Given the description of an element on the screen output the (x, y) to click on. 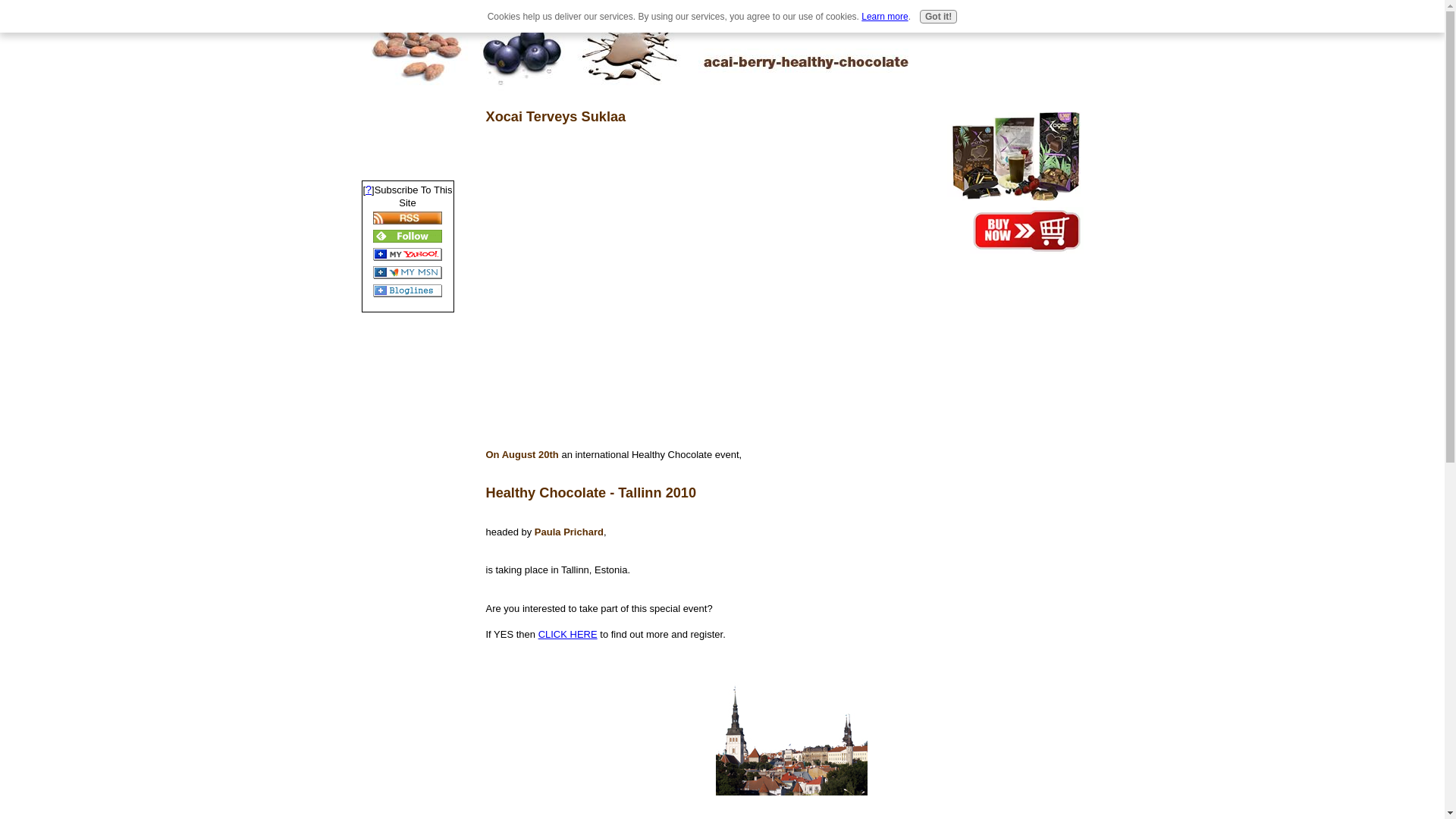
CLICK HERE (567, 633)
Got it! (938, 16)
Advertisement (983, 565)
Advertisement (406, 127)
Terveys suklaa (791, 738)
Learn more (884, 16)
buy xocai (1014, 156)
buy xocai (1026, 230)
